Given the description of an element on the screen output the (x, y) to click on. 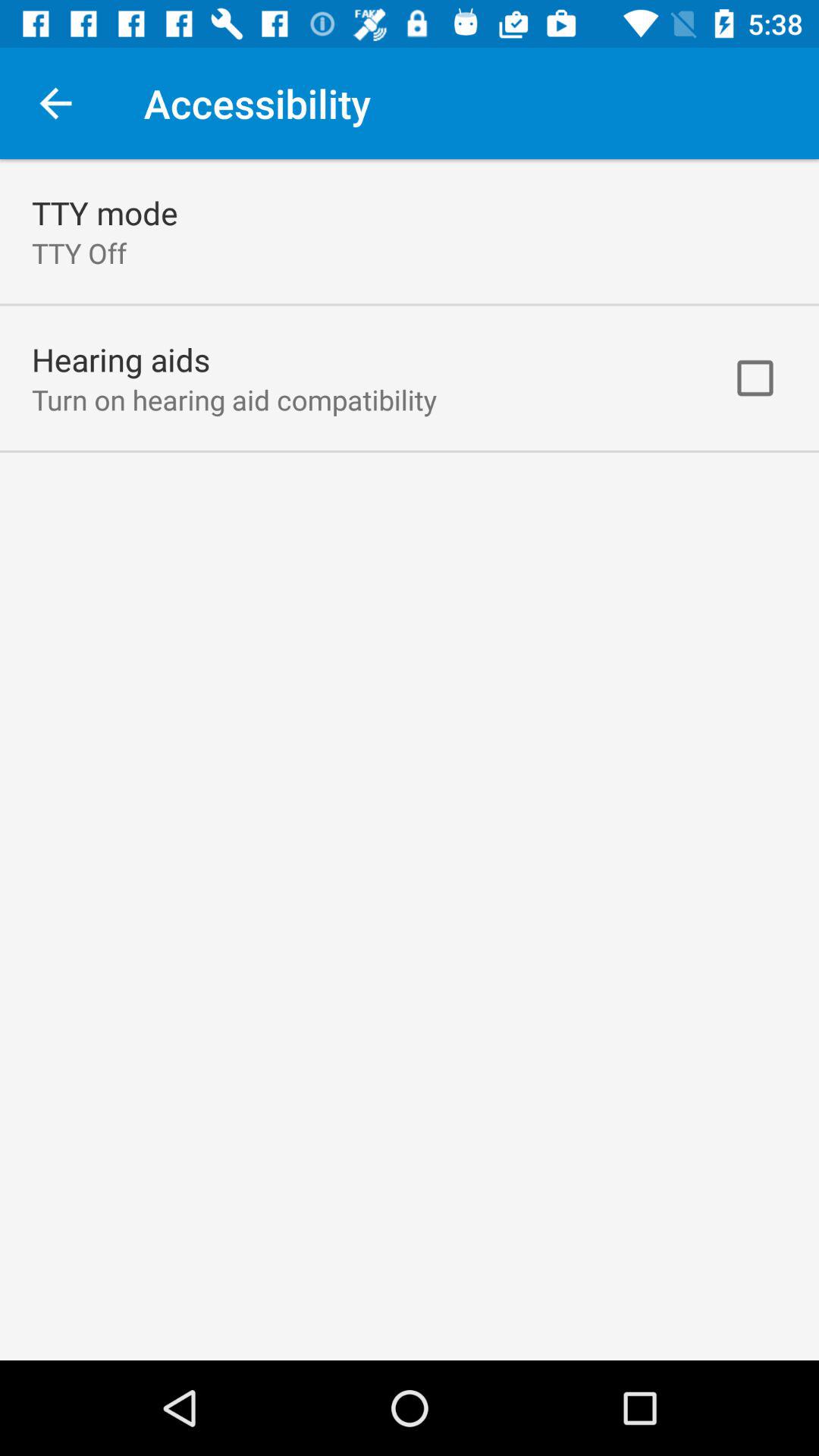
choose the app above turn on hearing item (120, 359)
